Given the description of an element on the screen output the (x, y) to click on. 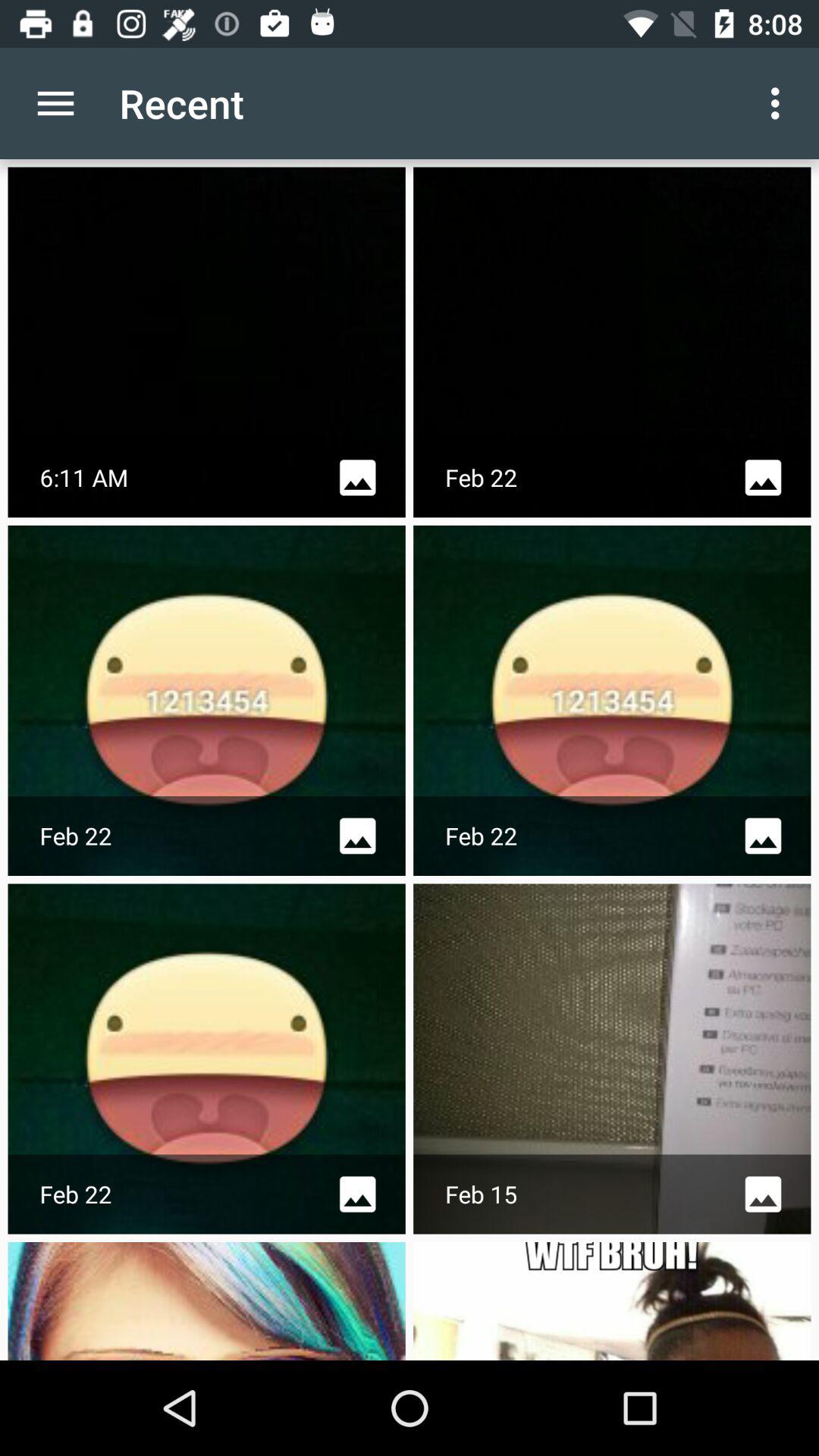
tap the app to the right of recent app (779, 103)
